Given the description of an element on the screen output the (x, y) to click on. 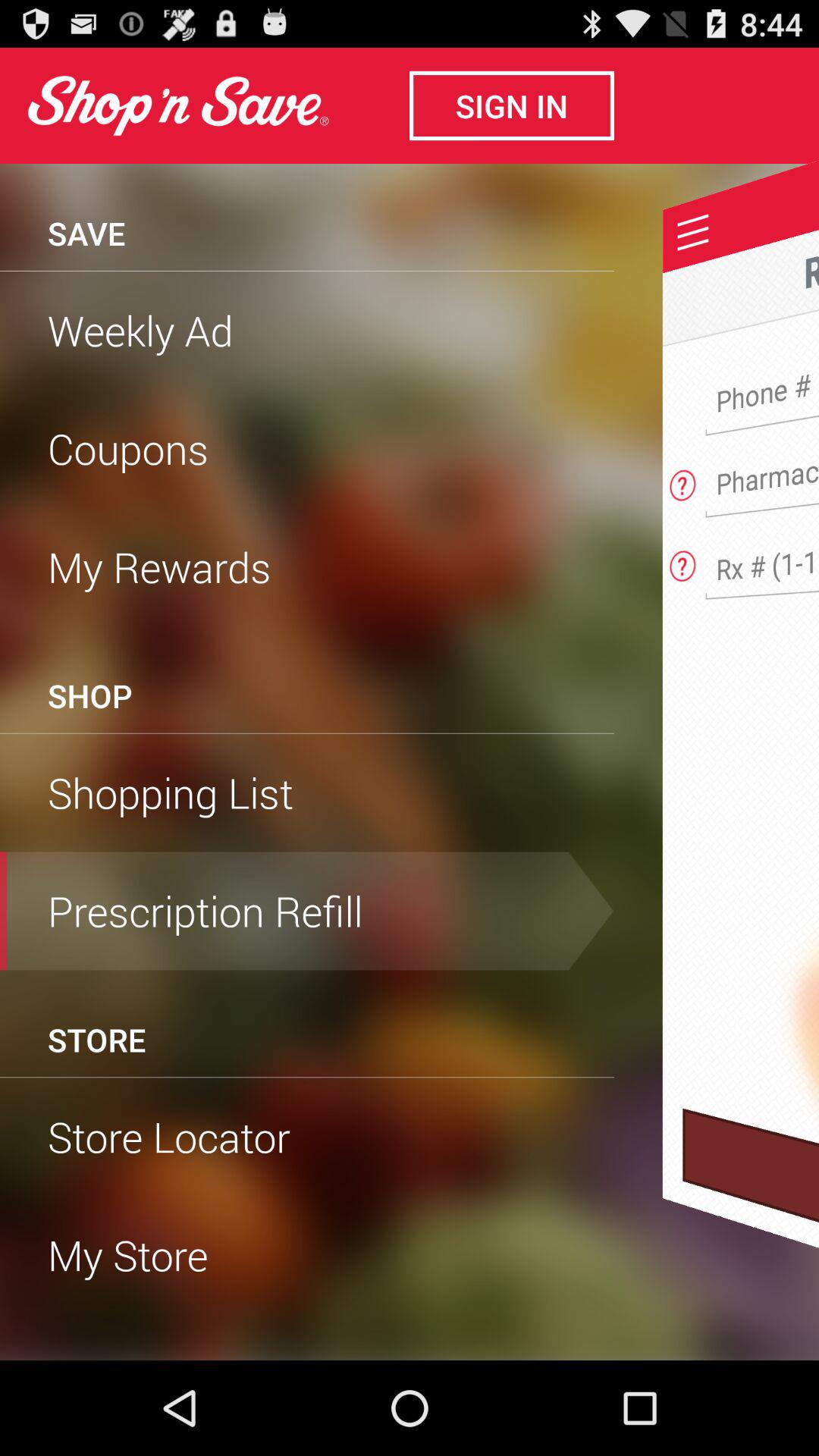
flip until the shopping list (307, 792)
